Given the description of an element on the screen output the (x, y) to click on. 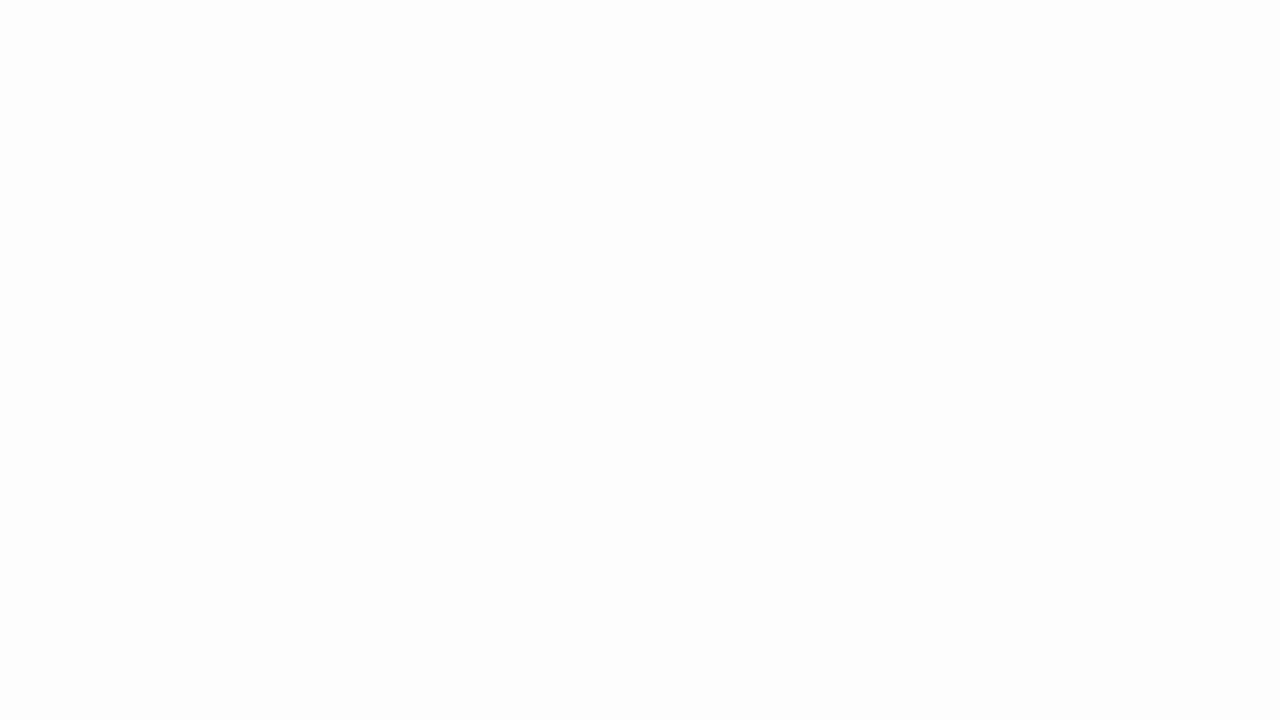
Analyze Data (673, 102)
